Given the description of an element on the screen output the (x, y) to click on. 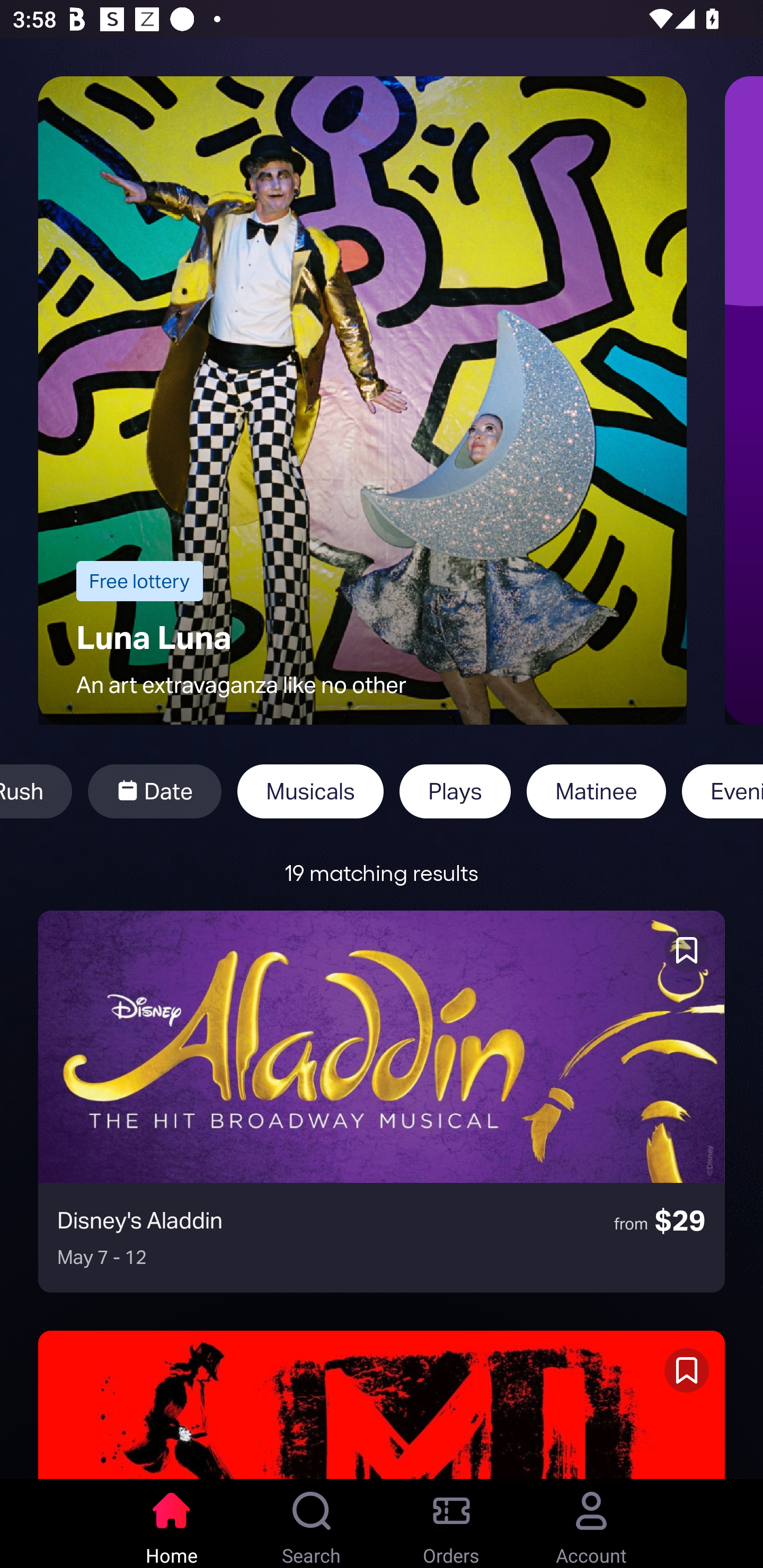
Date (154, 791)
Musicals (310, 791)
Plays (454, 791)
Matinee (596, 791)
Disney's Aladdin from $29 May 7 - 12 (381, 1101)
Search (311, 1523)
Orders (451, 1523)
Account (591, 1523)
